Given the description of an element on the screen output the (x, y) to click on. 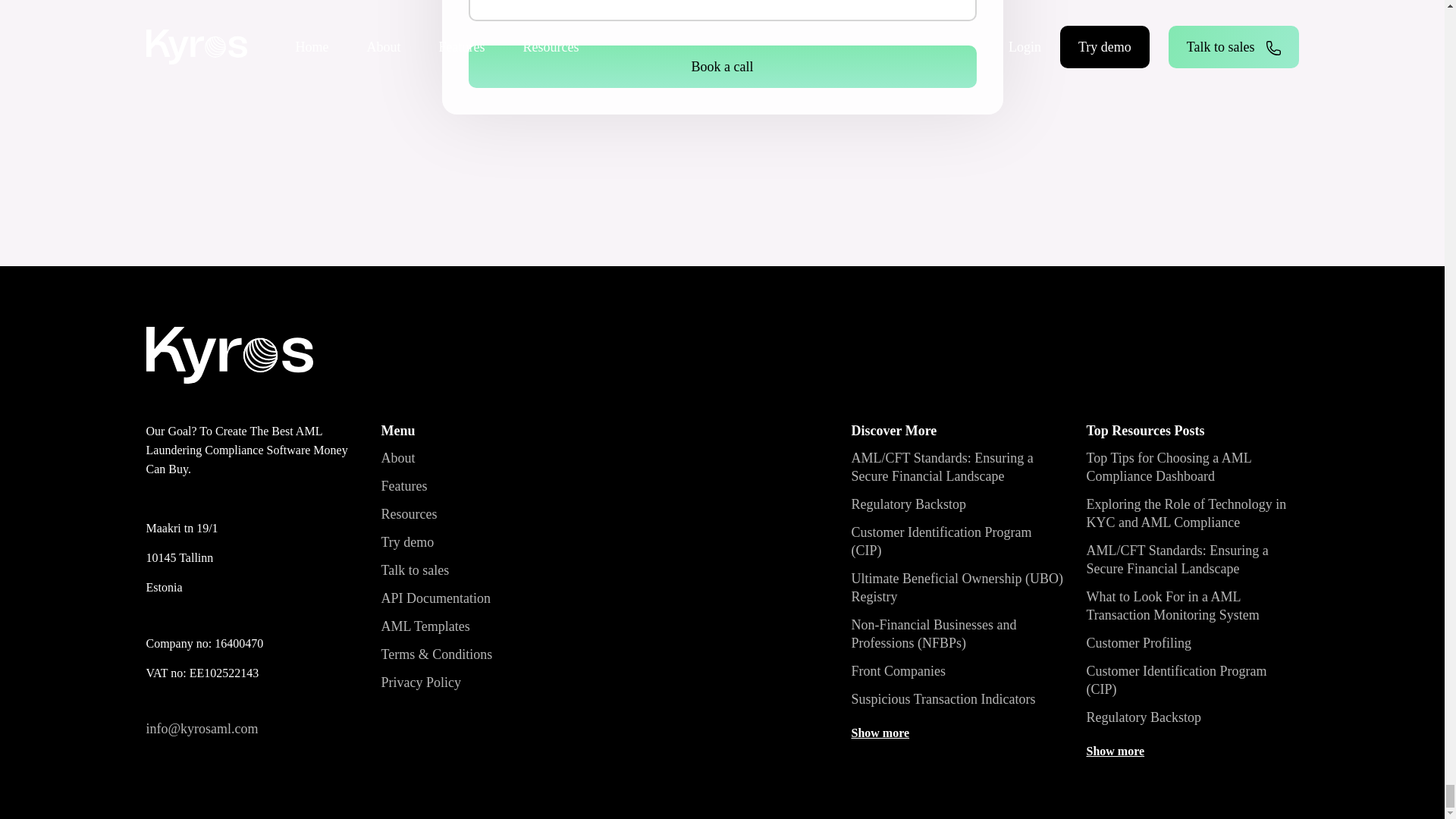
Regulatory Backstop (907, 504)
Front Companies (897, 670)
Suspicious Transaction Indicators (942, 699)
